Given the description of an element on the screen output the (x, y) to click on. 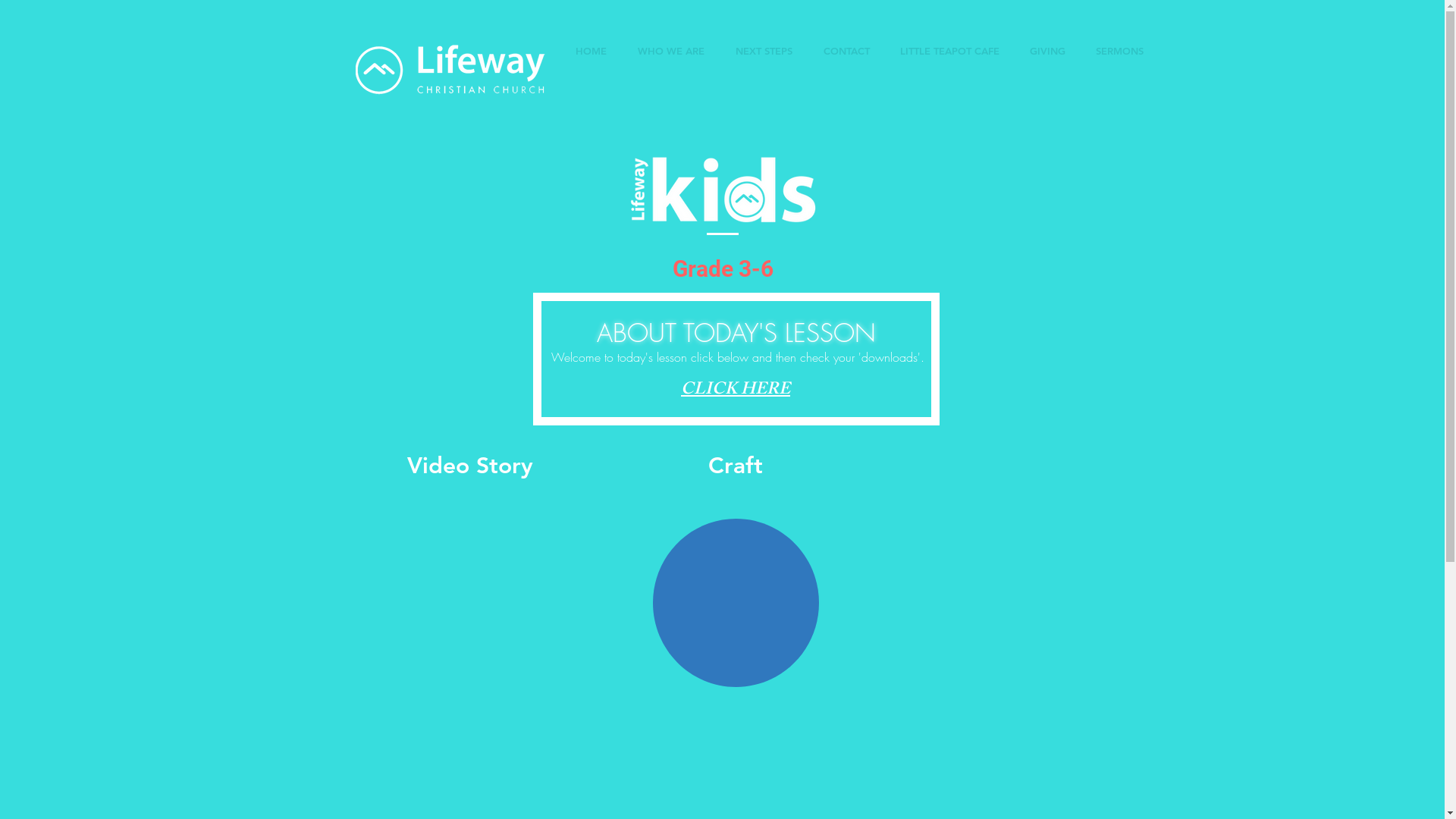
LITTLE TEAPOT CAFE Element type: text (948, 50)
CONTACT Element type: text (846, 50)
HOME Element type: text (590, 50)
WHO WE ARE Element type: text (670, 50)
CLICK HERE Element type: text (735, 390)
SERMONS Element type: text (1118, 50)
NEXT STEPS Element type: text (764, 50)
GIVING Element type: text (1047, 50)
